Given the description of an element on the screen output the (x, y) to click on. 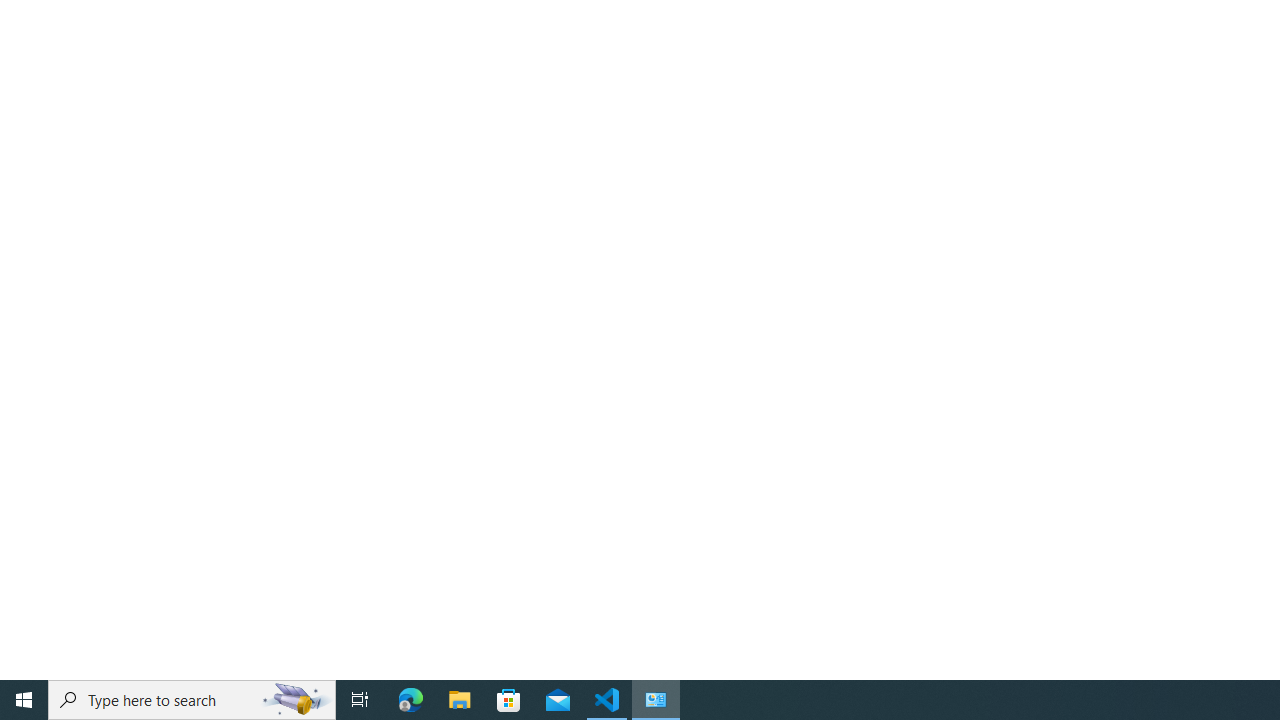
Control Panel - 1 running window (656, 699)
